Given the description of an element on the screen output the (x, y) to click on. 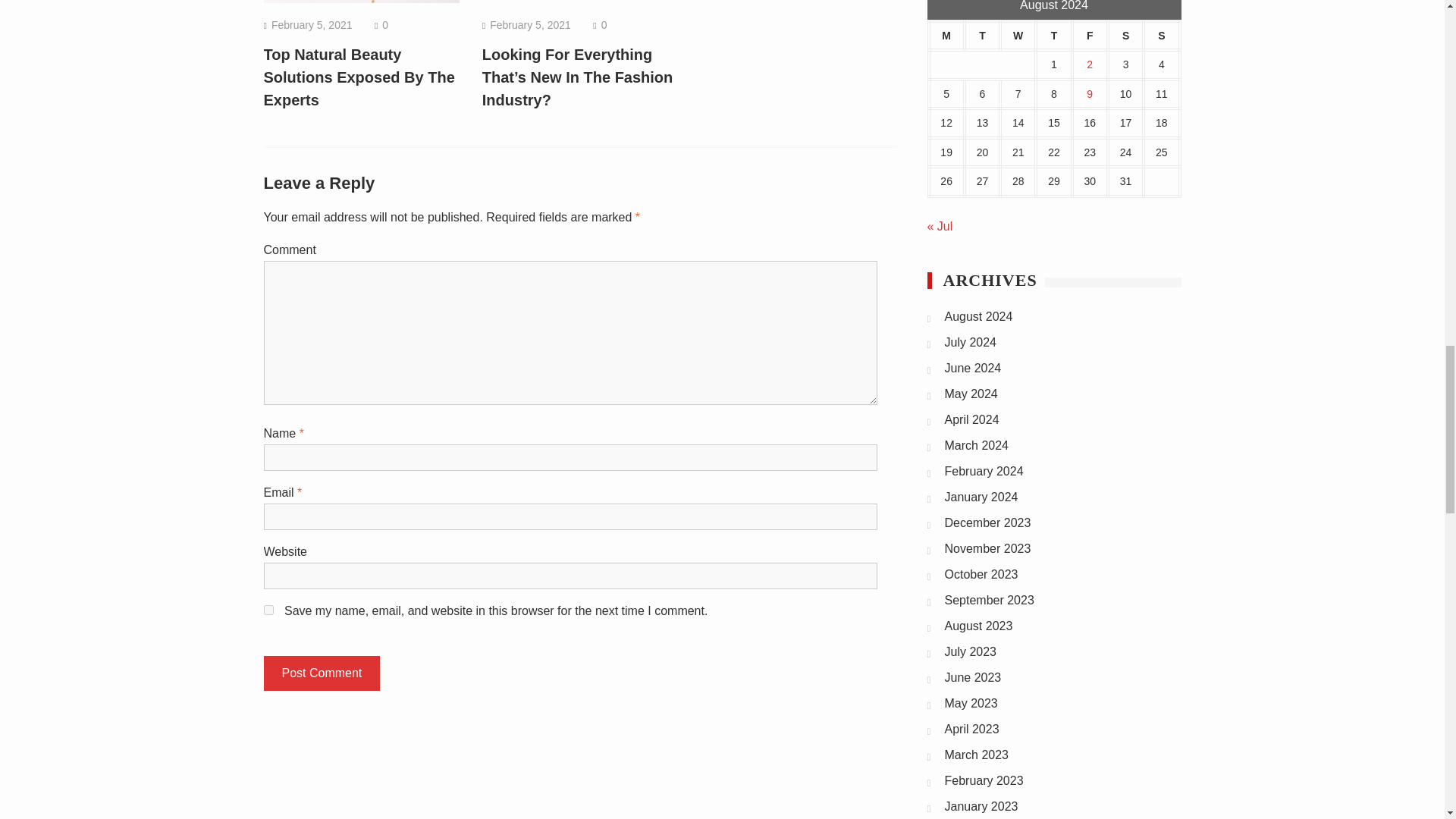
Thursday (1053, 35)
Post Comment (321, 673)
Sunday (1160, 35)
Post Comment (321, 673)
Top Natural Beauty Solutions Exposed By The Experts (358, 76)
Saturday (1125, 35)
Friday (1089, 35)
Tuesday (981, 35)
Wednesday (1017, 35)
Monday (945, 35)
